Given the description of an element on the screen output the (x, y) to click on. 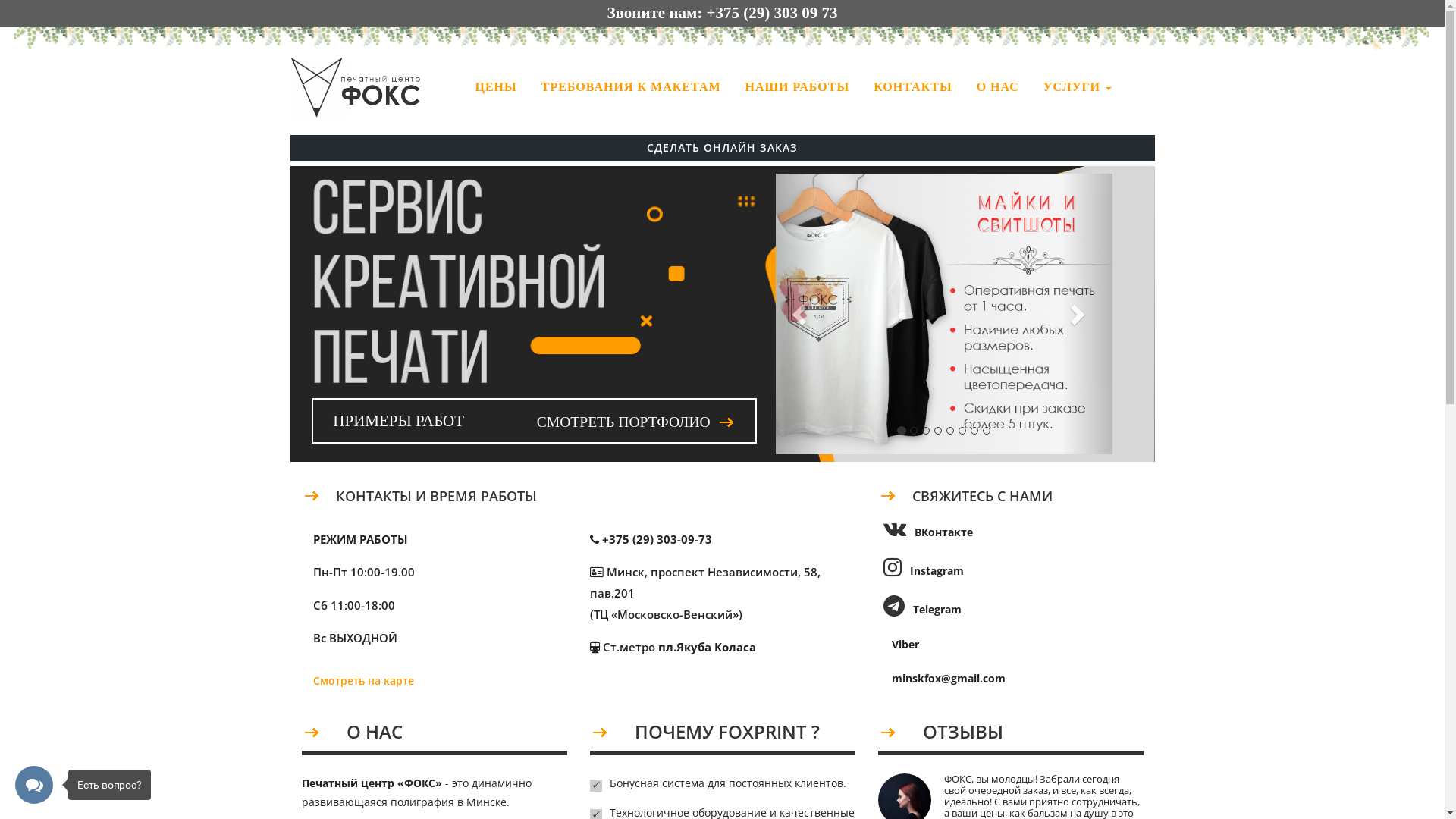
Viber Element type: text (898, 644)
Telegram Element type: text (919, 609)
minskfox@gmail.com Element type: text (941, 678)
Instagram Element type: text (920, 570)
